Given the description of an element on the screen output the (x, y) to click on. 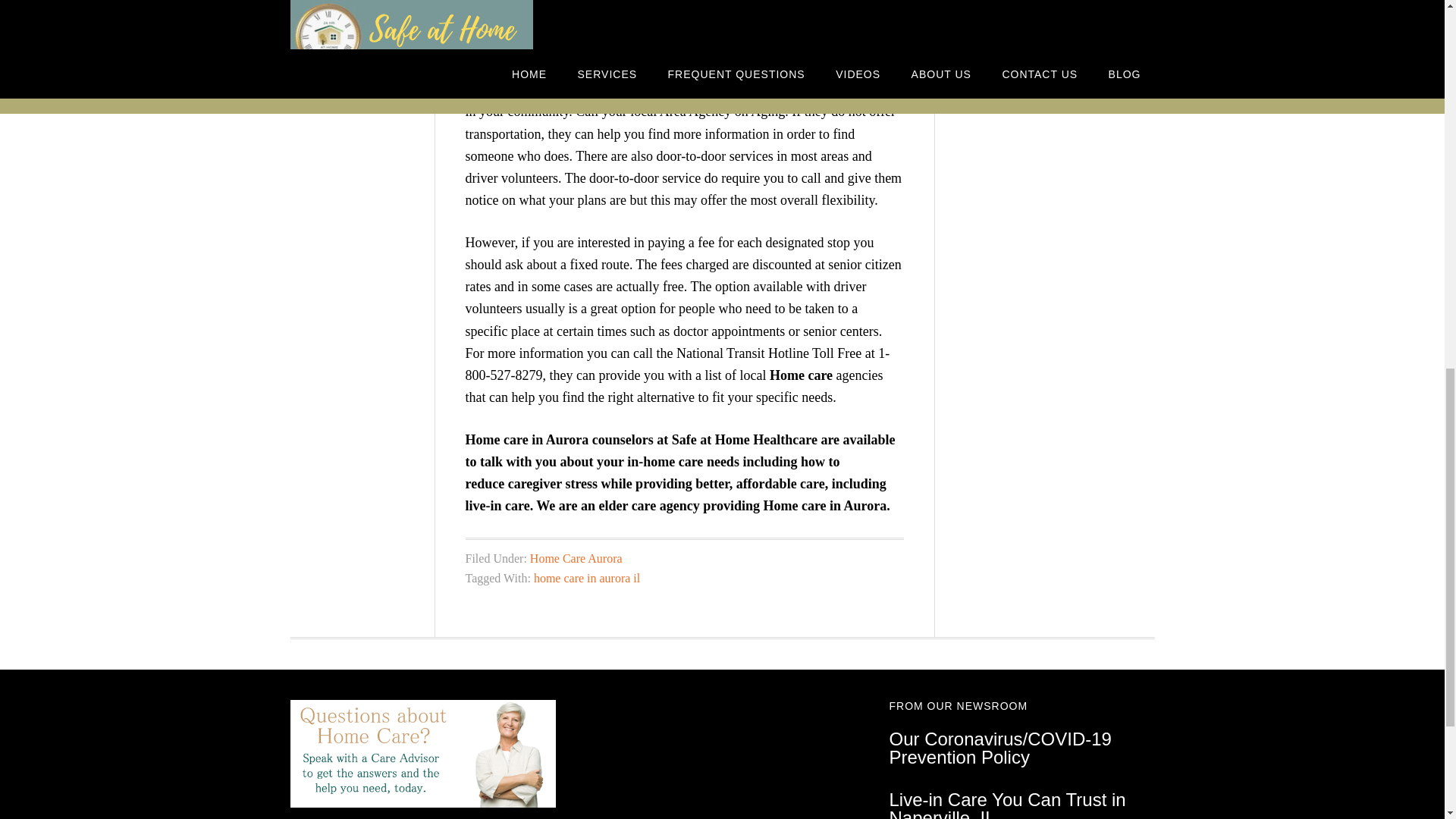
home care in aurora il (587, 577)
Home care in Aurora (824, 505)
Home care (801, 375)
Home Care in Aurora IL (801, 375)
Home Care in Aurora IL (824, 505)
Safe at Home Healthcare (743, 439)
Home Care Aurora (576, 558)
